Given the description of an element on the screen output the (x, y) to click on. 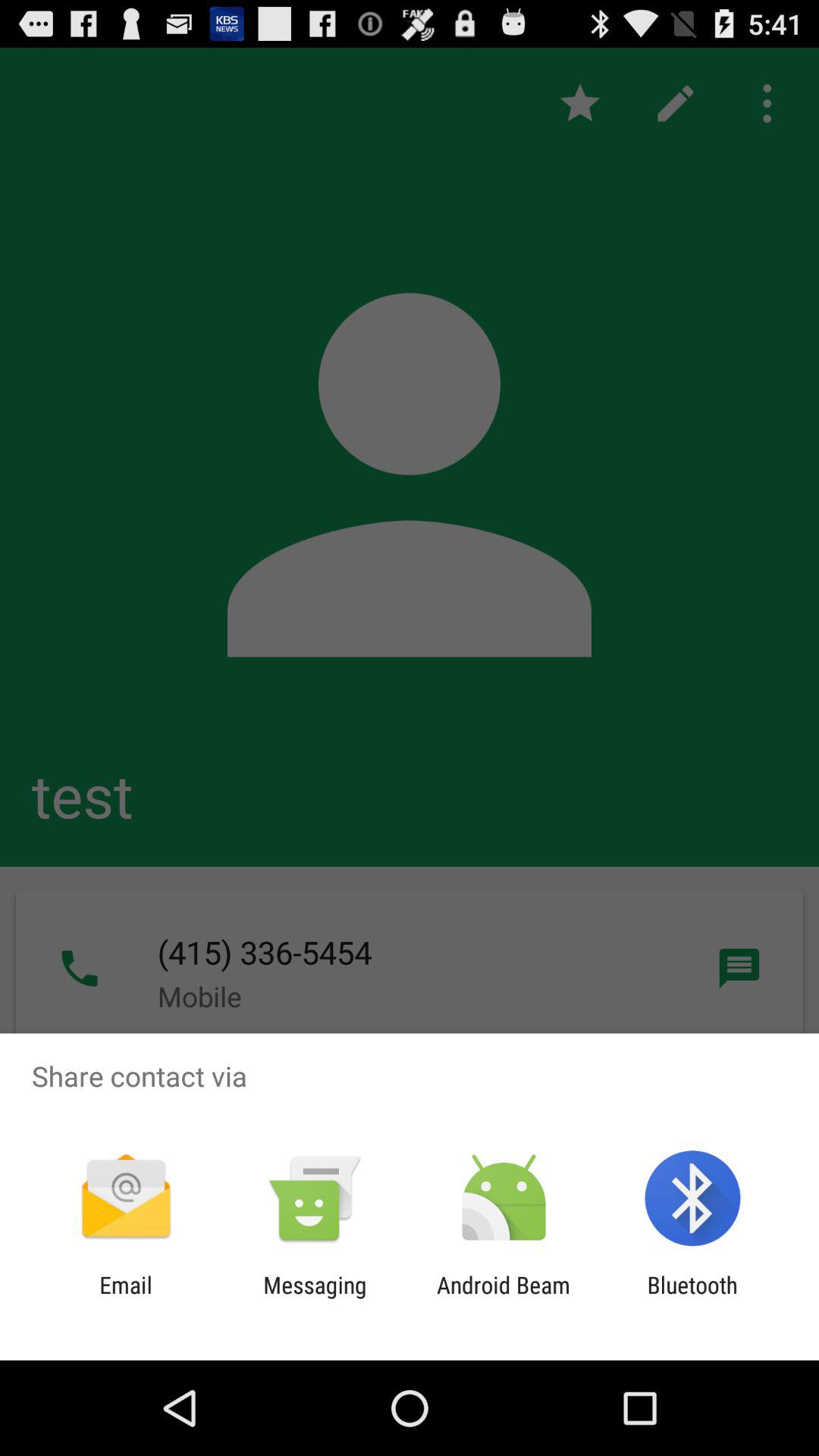
open email (125, 1298)
